Given the description of an element on the screen output the (x, y) to click on. 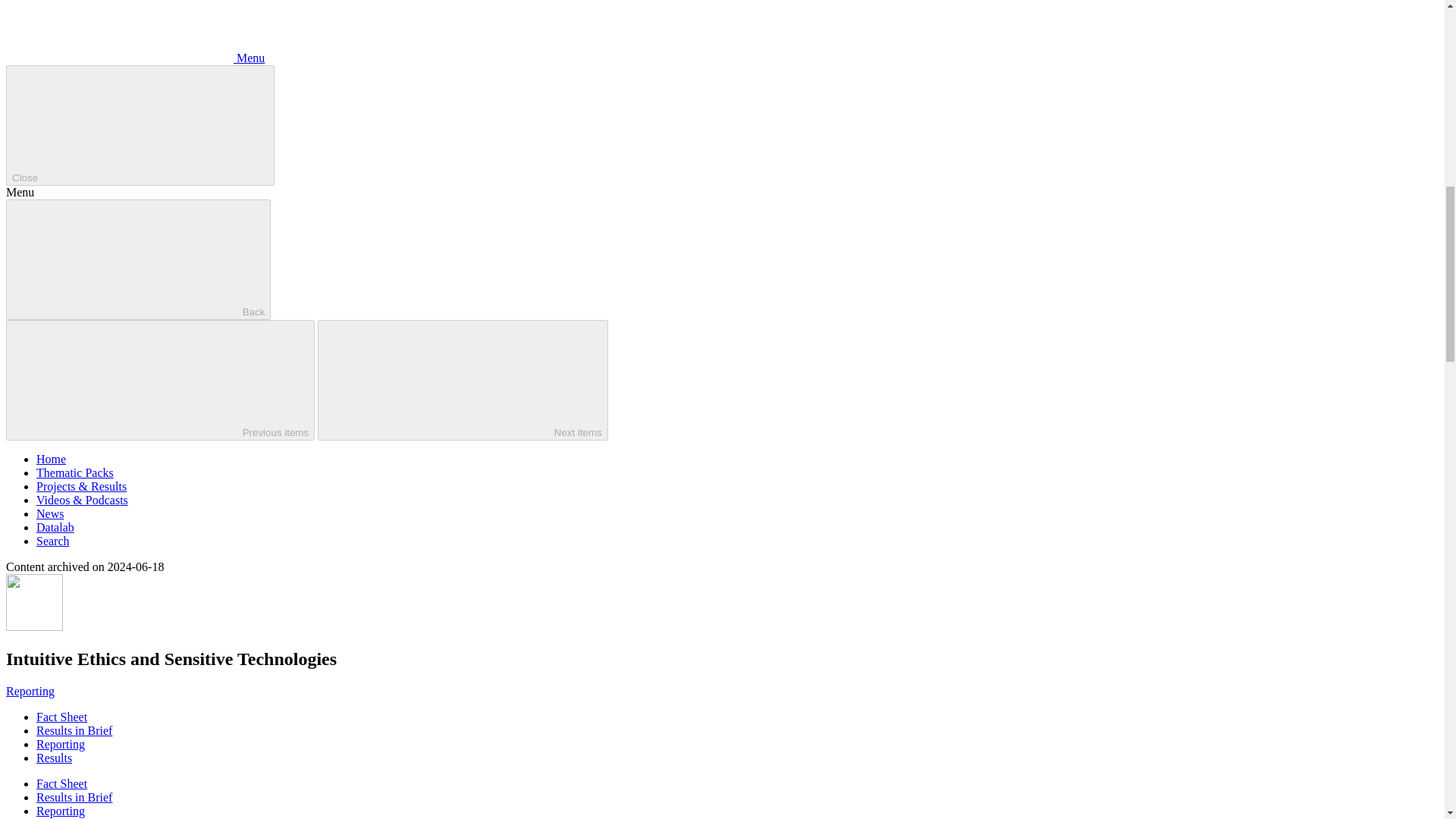
Fact Sheet (61, 716)
Menu (134, 57)
Reporting (60, 744)
Fact Sheet (61, 783)
Previous items (159, 380)
Results (53, 757)
Reporting (30, 690)
Back (137, 259)
Close (140, 125)
Reporting (60, 810)
Results in Brief (74, 797)
News (50, 513)
Next items (462, 380)
Thematic Packs (74, 472)
Search (52, 540)
